Given the description of an element on the screen output the (x, y) to click on. 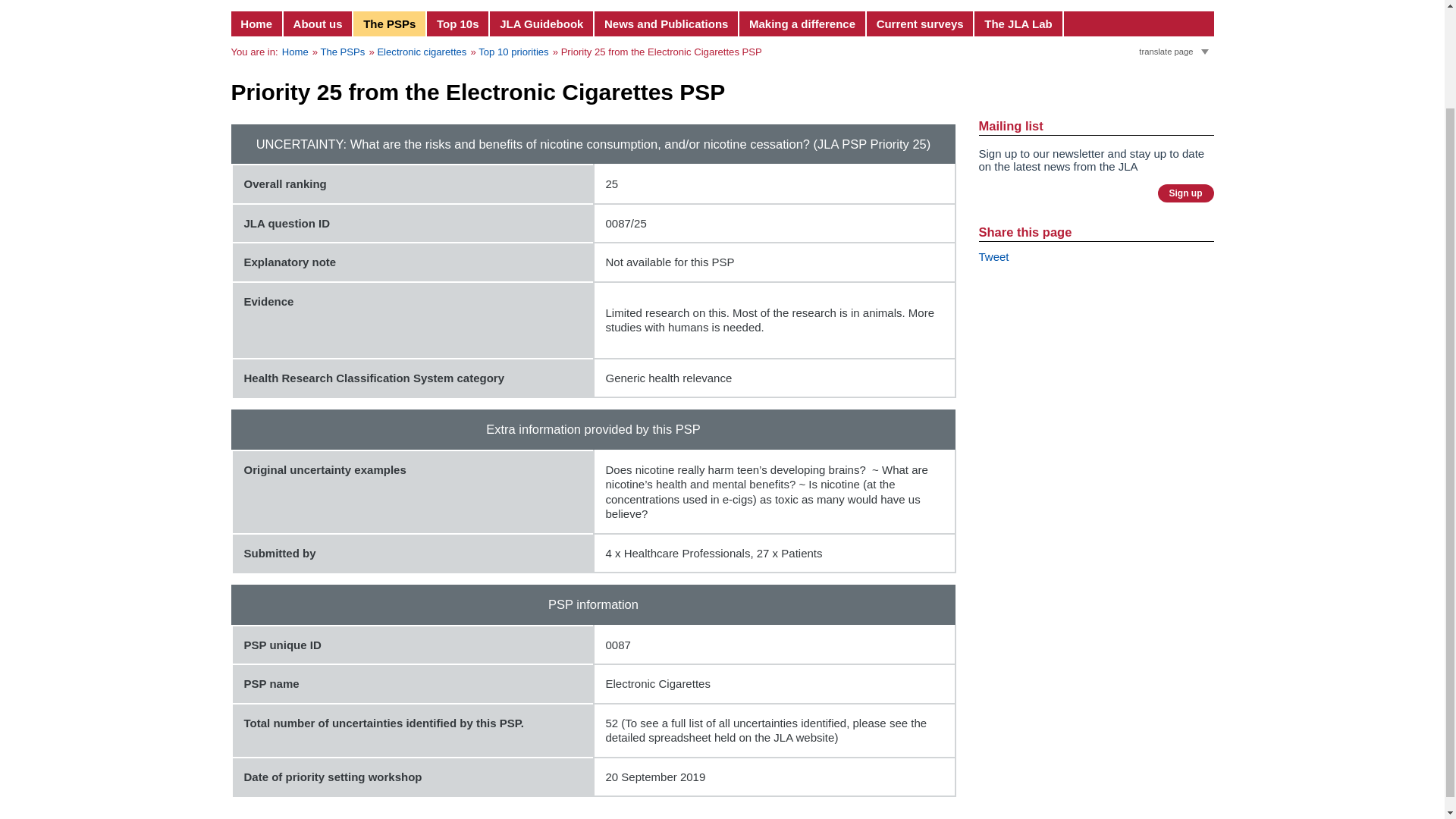
JLA Guidebook - AccessKey:F (541, 23)
The JLA Lab (1018, 23)
Home (256, 23)
Home (295, 51)
The PSPs - AccessKey:C (389, 23)
Current surveys - AccessKey:I (920, 23)
About us (318, 23)
Top 10 priorities (513, 51)
The PSPs (389, 23)
Top 10s - AccessKey:E (457, 23)
